Given the description of an element on the screen output the (x, y) to click on. 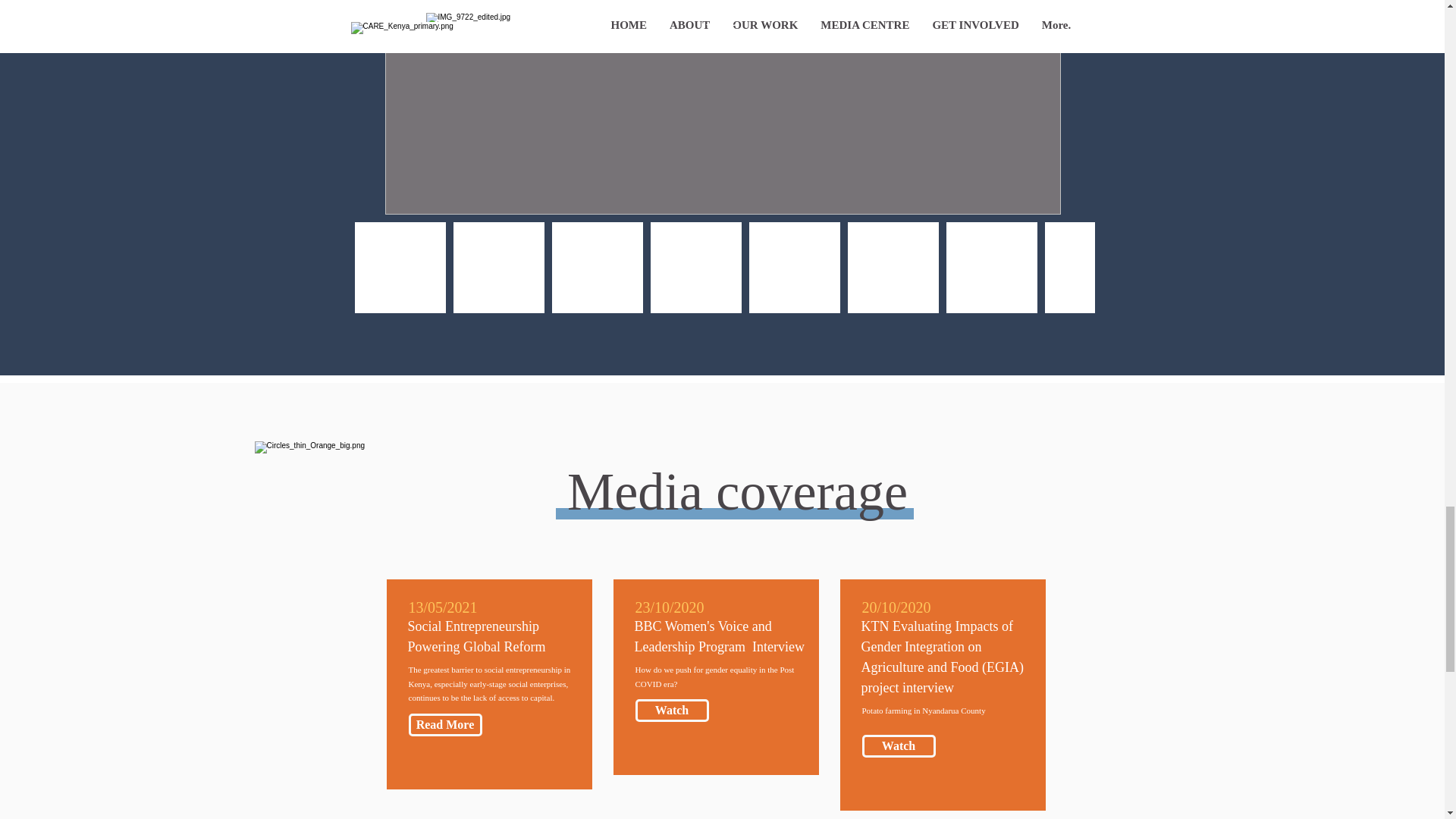
Watch (897, 745)
Read More (444, 724)
Watch (671, 710)
